Given the description of an element on the screen output the (x, y) to click on. 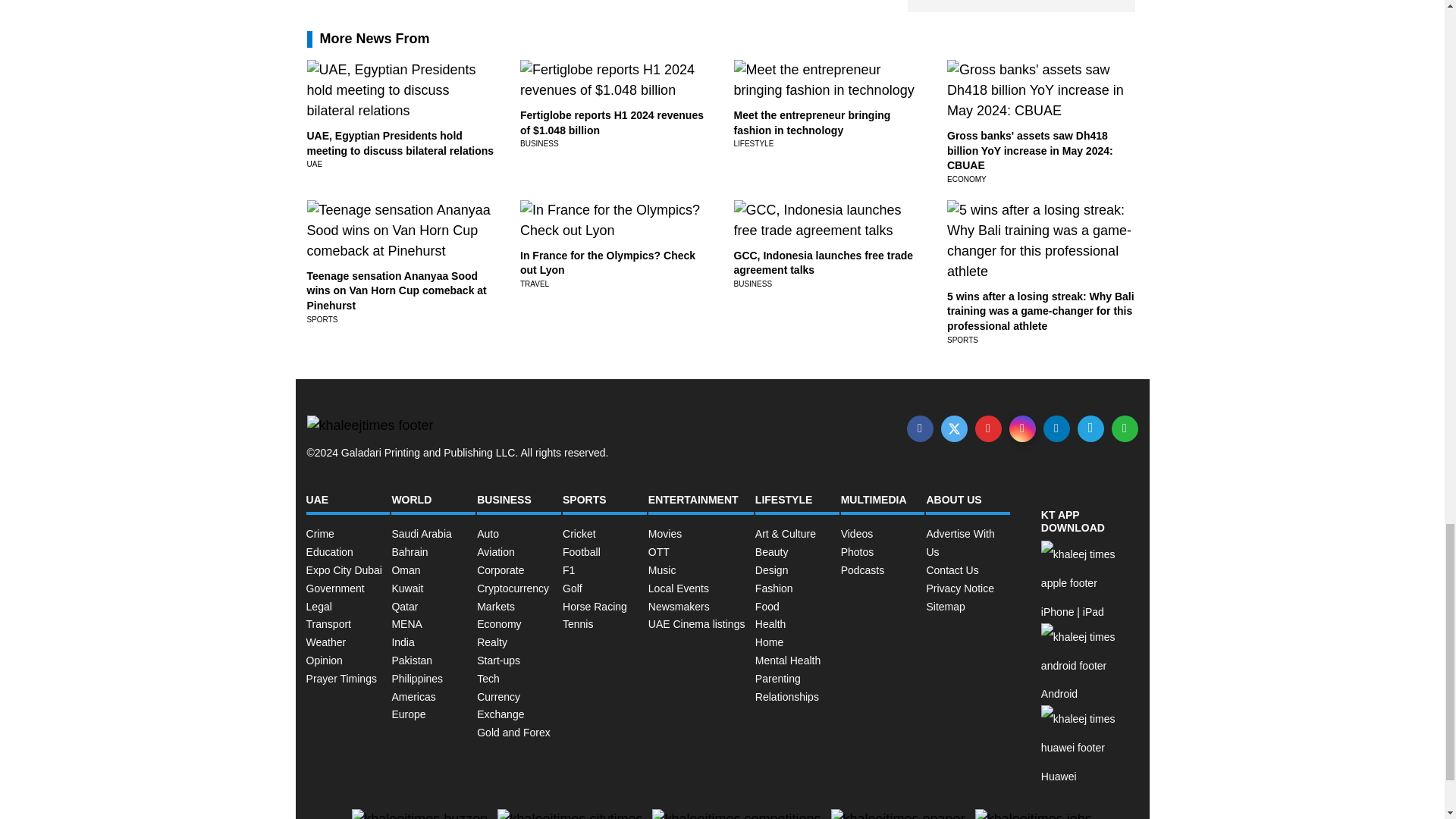
Hurricane Debby takes aim at Florida's Gulf Coast (1021, 251)
